Given the description of an element on the screen output the (x, y) to click on. 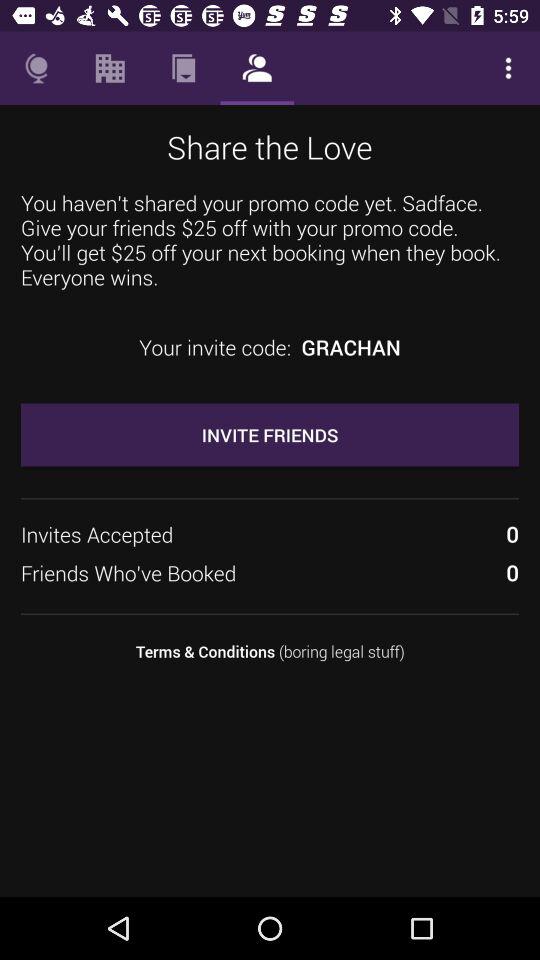
turn on terms conditions boring (270, 651)
